Given the description of an element on the screen output the (x, y) to click on. 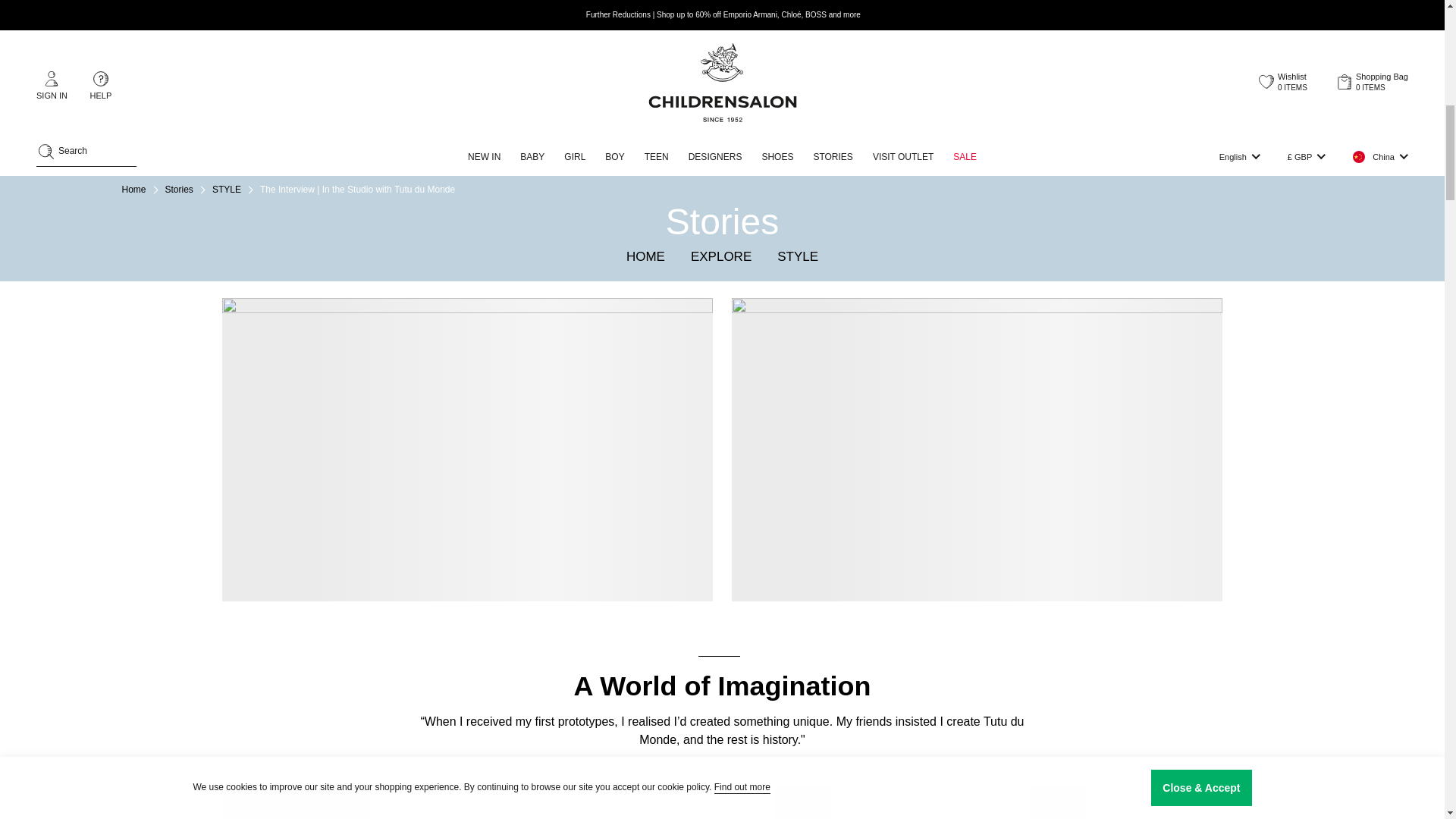
Tweet (721, 237)
Share Facebook (627, 237)
Pin It (815, 237)
